Given the description of an element on the screen output the (x, y) to click on. 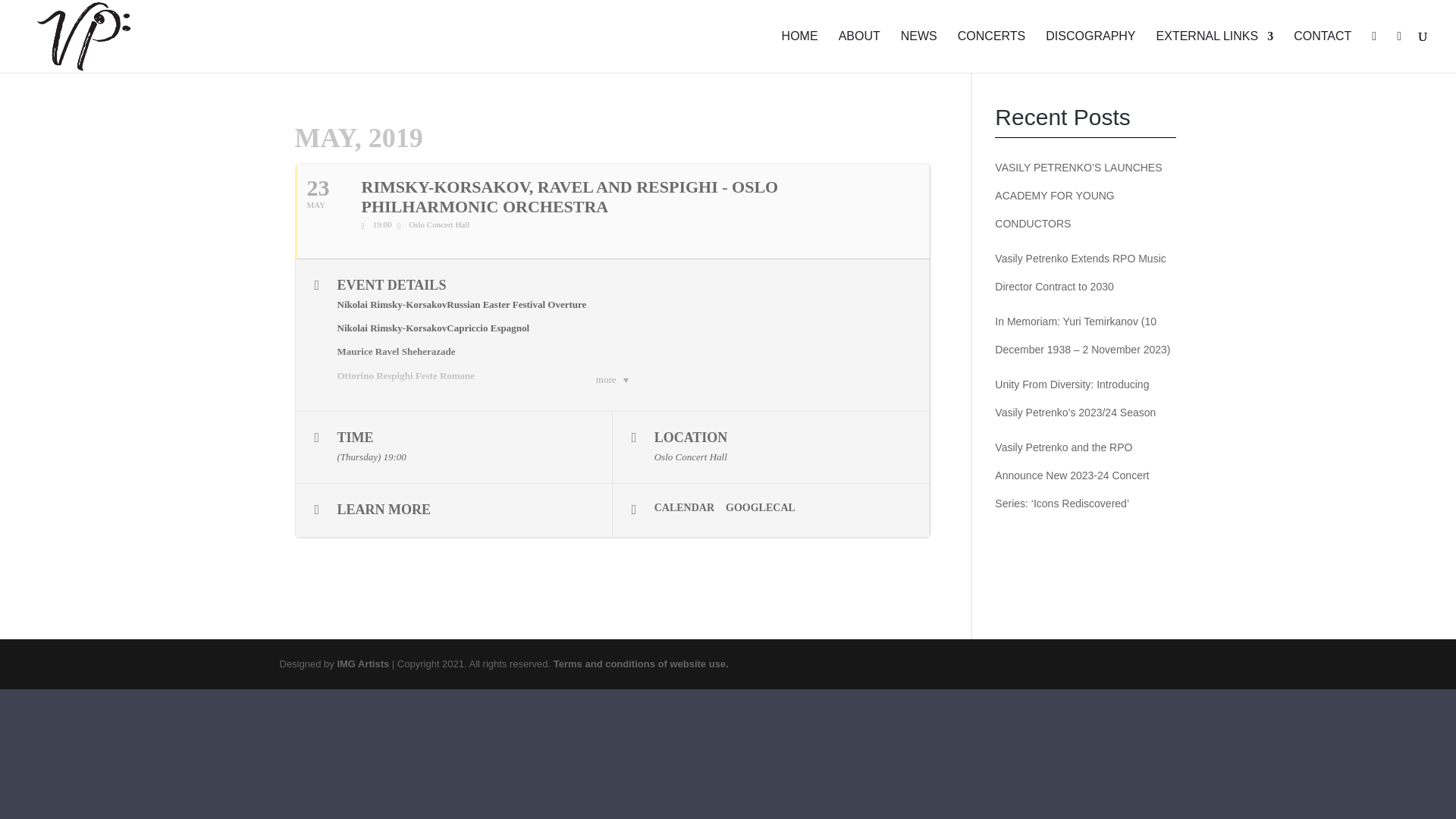
GOOGLECAL (765, 508)
HOME (799, 51)
ABOUT (859, 51)
Add to your calendar (689, 508)
NEWS (919, 51)
LEARN MORE (453, 510)
CONCERTS (992, 51)
CONTACT (1322, 51)
CALENDAR (689, 508)
EXTERNAL LINKS (1215, 51)
